Given the description of an element on the screen output the (x, y) to click on. 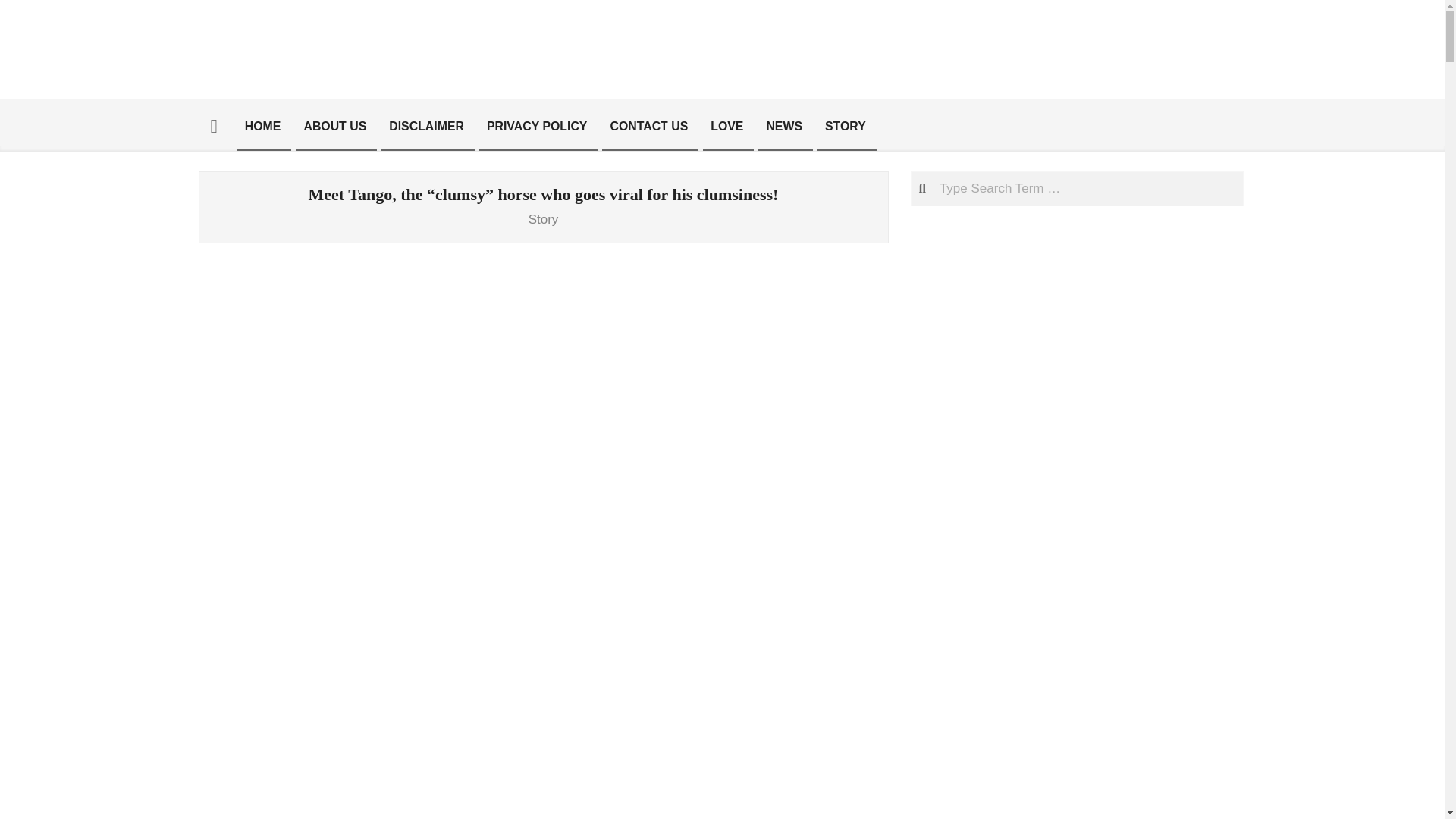
PRIVACY POLICY (537, 126)
HOME (262, 126)
STORY (845, 126)
DISCLAIMER (426, 126)
Story (543, 219)
Advertisement (543, 809)
CONTACT US (648, 126)
NEWS (783, 126)
ABOUT US (334, 126)
LOVE (726, 126)
